Given the description of an element on the screen output the (x, y) to click on. 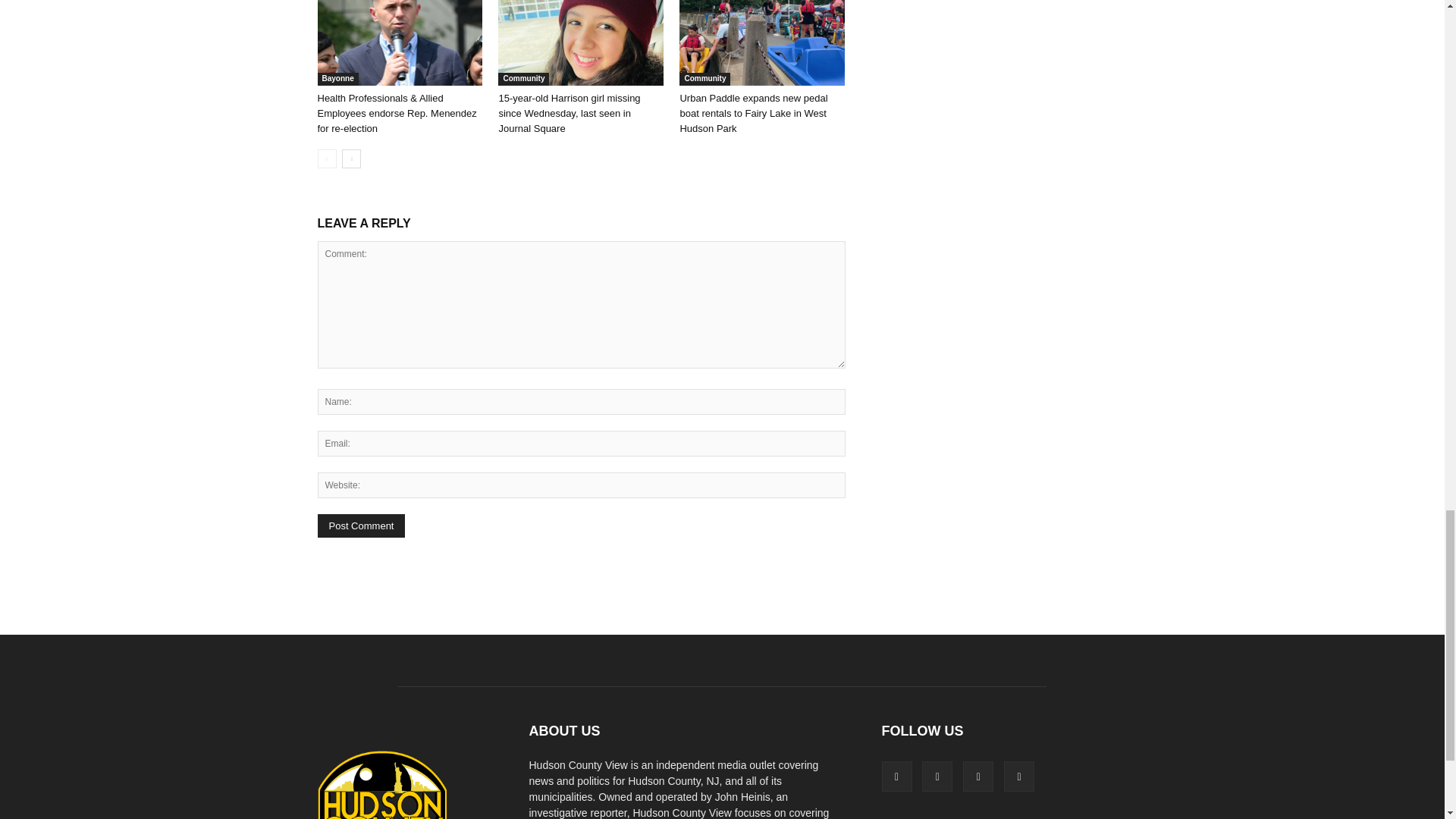
Post Comment (360, 525)
